Given the description of an element on the screen output the (x, y) to click on. 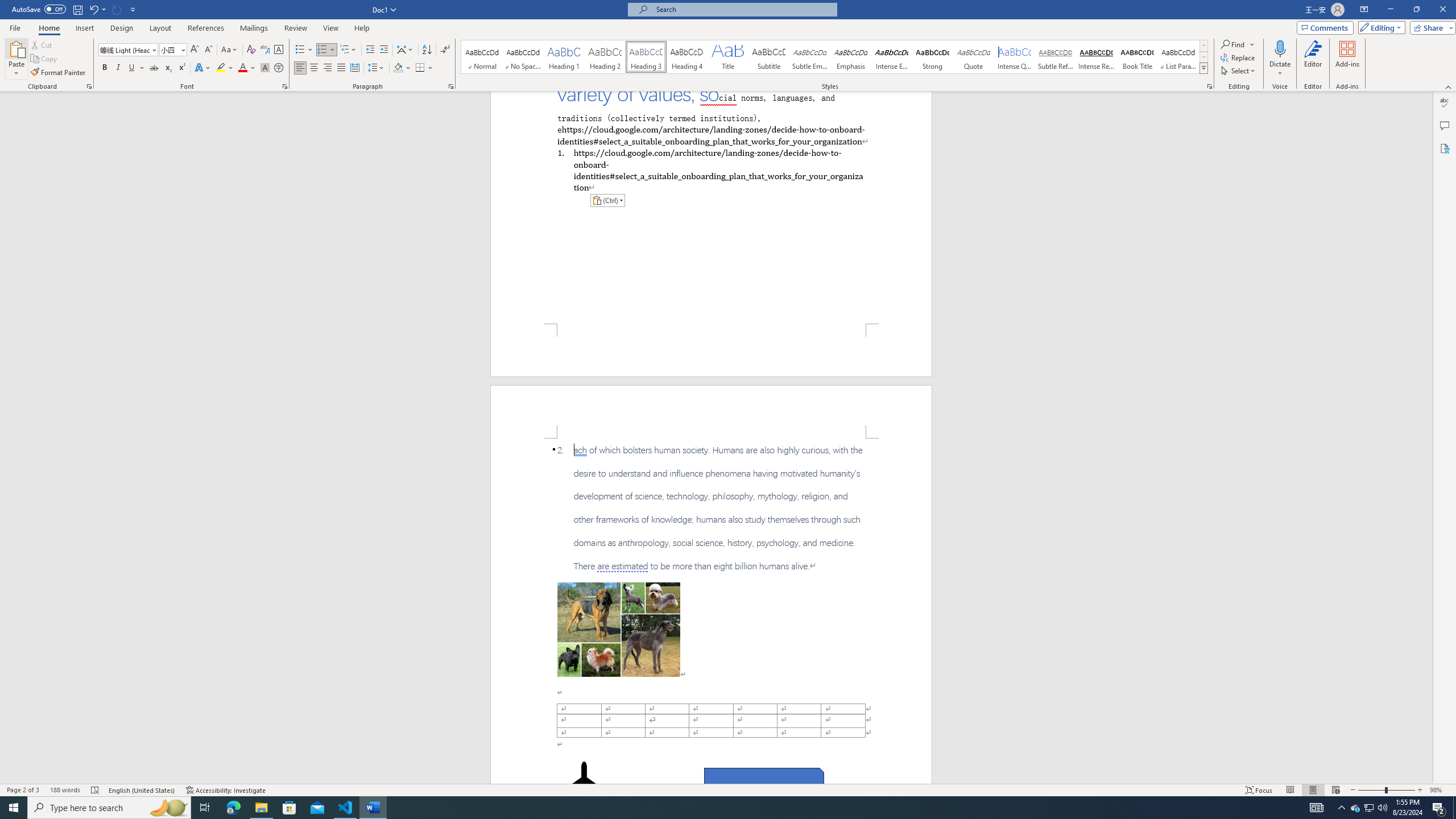
Align Right (327, 67)
Page 1 content (710, 207)
Shading RGB(0, 0, 0) (397, 67)
Align Left (300, 67)
Row up (1203, 45)
Shading (402, 67)
Enclose Characters... (278, 67)
Center (313, 67)
Accessibility (1444, 147)
